Given the description of an element on the screen output the (x, y) to click on. 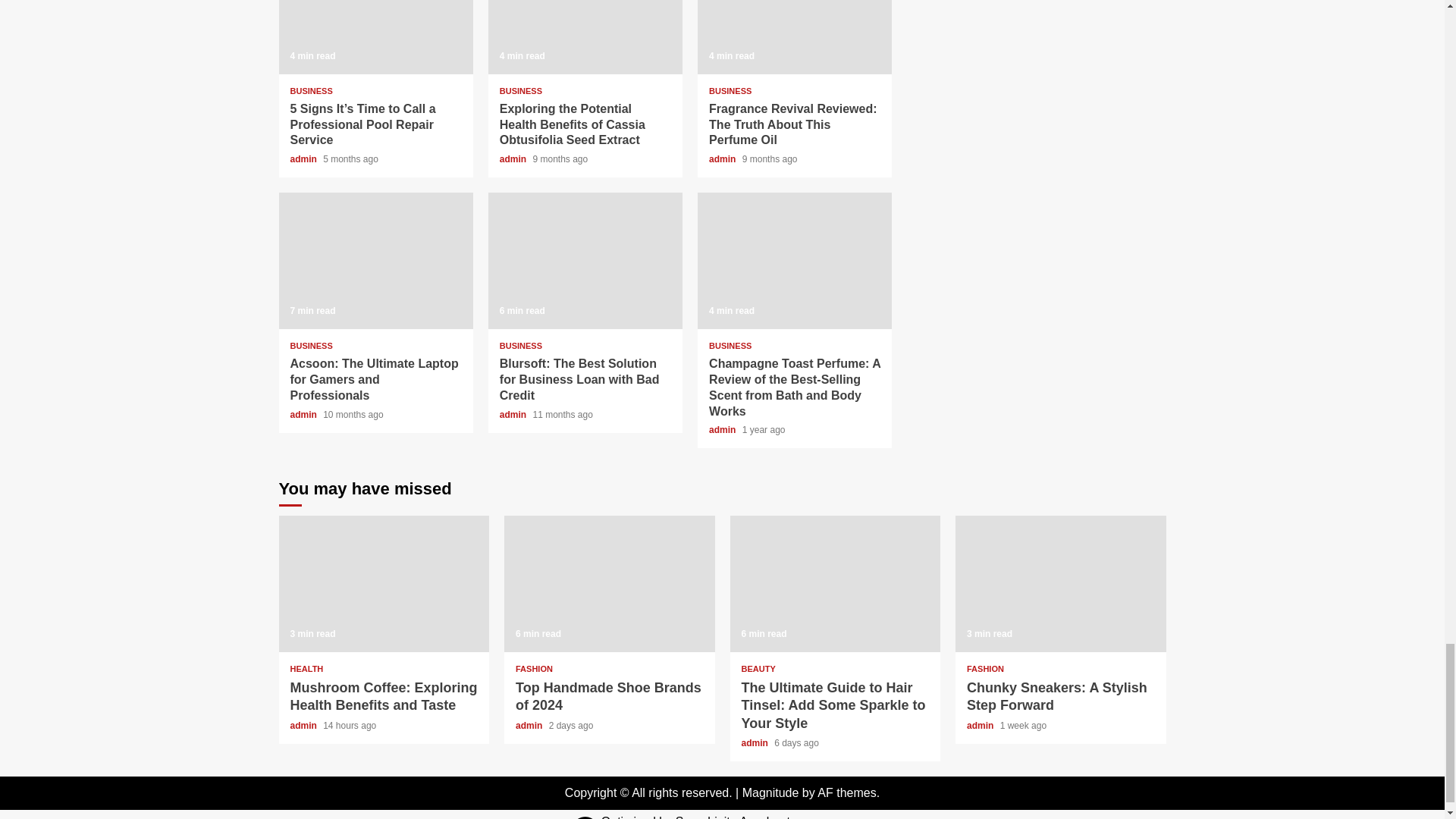
BUSINESS (310, 90)
admin (303, 158)
